Given the description of an element on the screen output the (x, y) to click on. 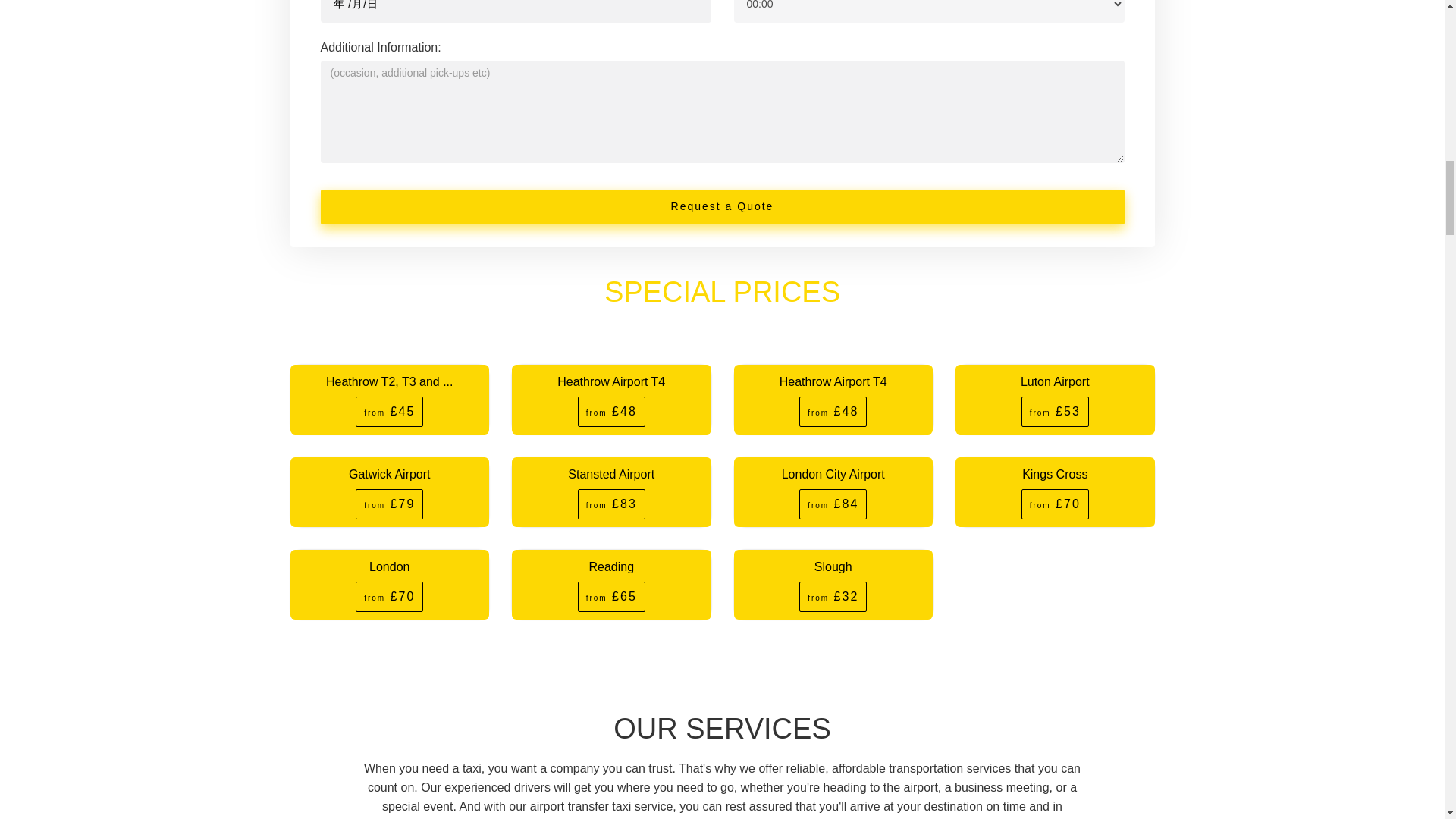
Request a Quote (722, 206)
